Given the description of an element on the screen output the (x, y) to click on. 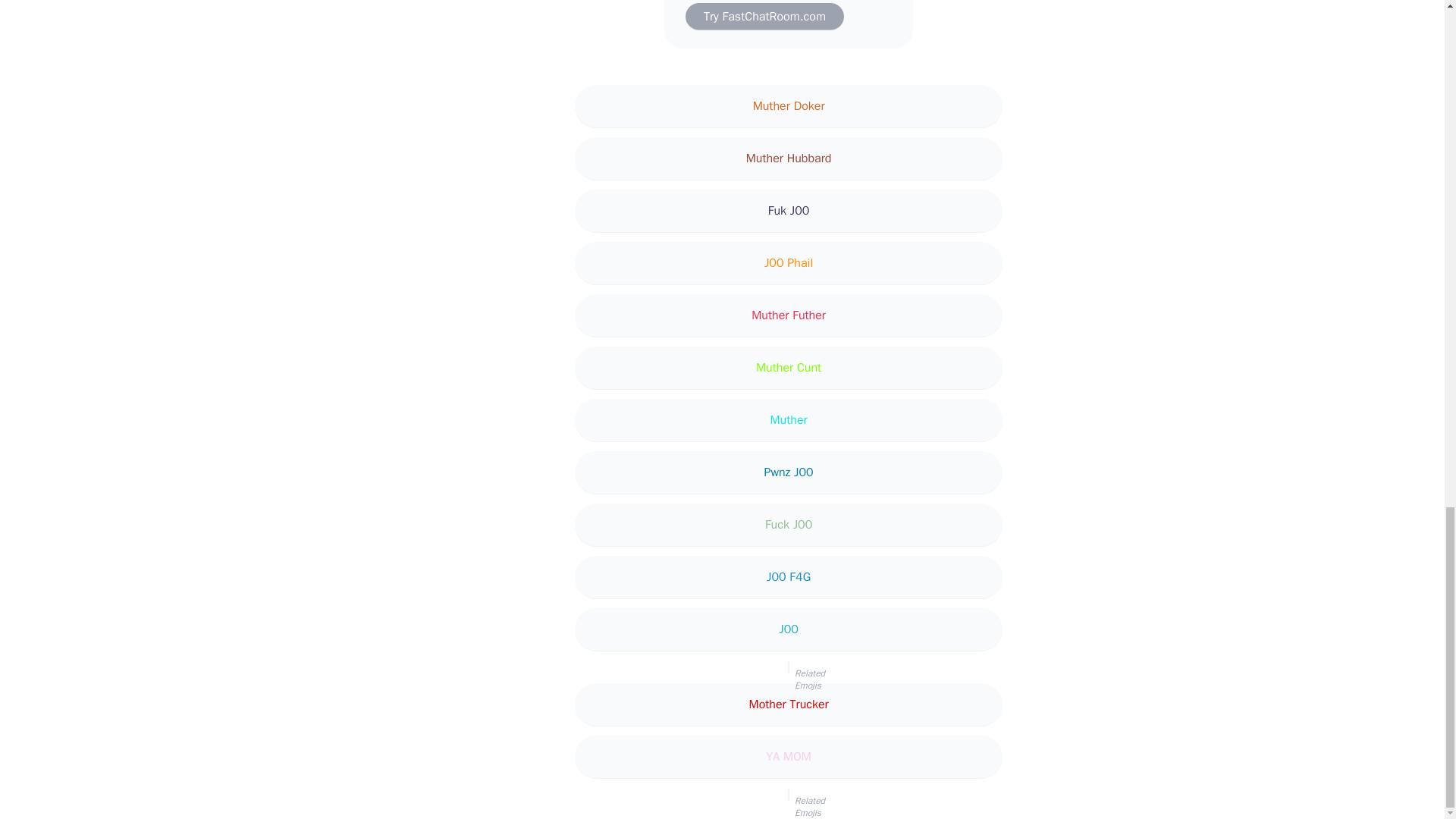
Try FastChatRoom.com (764, 16)
Muther Doker (789, 106)
Muther Hubbard (789, 158)
Fuk J00 (789, 210)
